Given the description of an element on the screen output the (x, y) to click on. 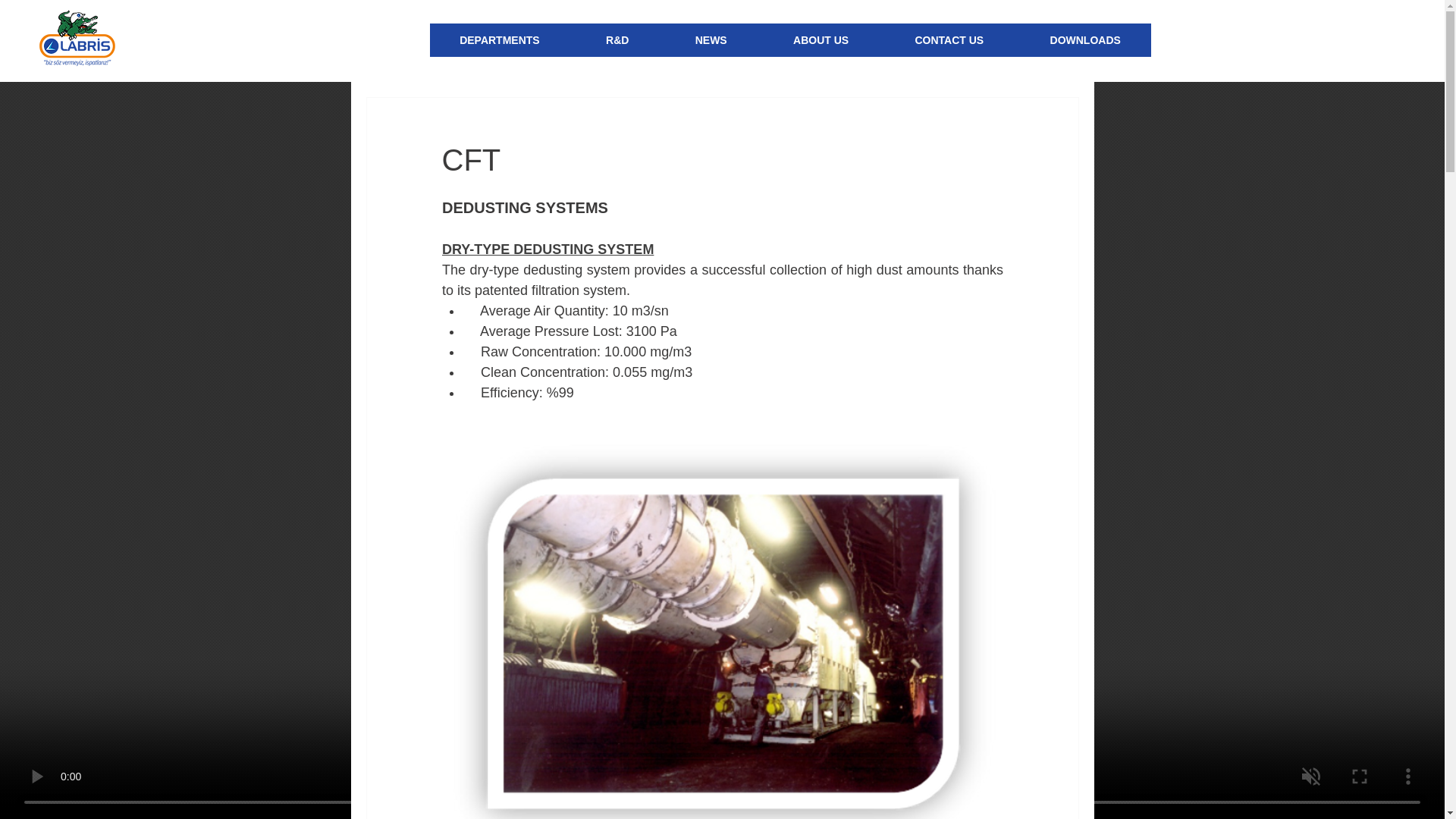
DOWNLOADS (1085, 39)
DEPARTMENTS (499, 39)
NEWS (711, 39)
ABOUT US (819, 39)
CONTACT US (949, 39)
